Given the description of an element on the screen output the (x, y) to click on. 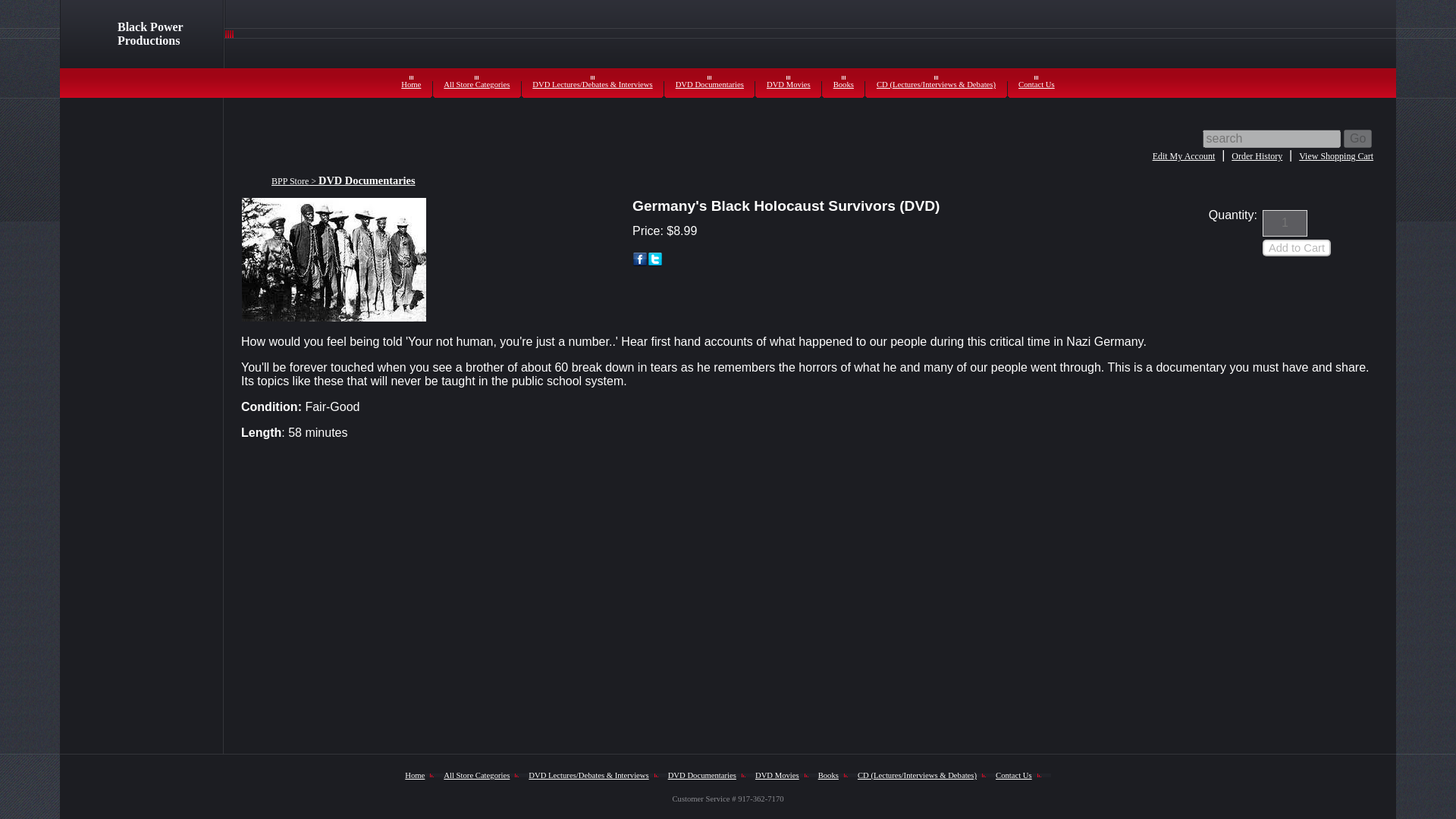
All Store Categories (476, 84)
Add to Cart (1296, 247)
Add to Cart (1296, 247)
Home (414, 775)
Books (842, 84)
Books (828, 775)
Home (410, 84)
DVD Documentaries (702, 775)
Go (1357, 138)
DVD Documentaries (366, 181)
